Given the description of an element on the screen output the (x, y) to click on. 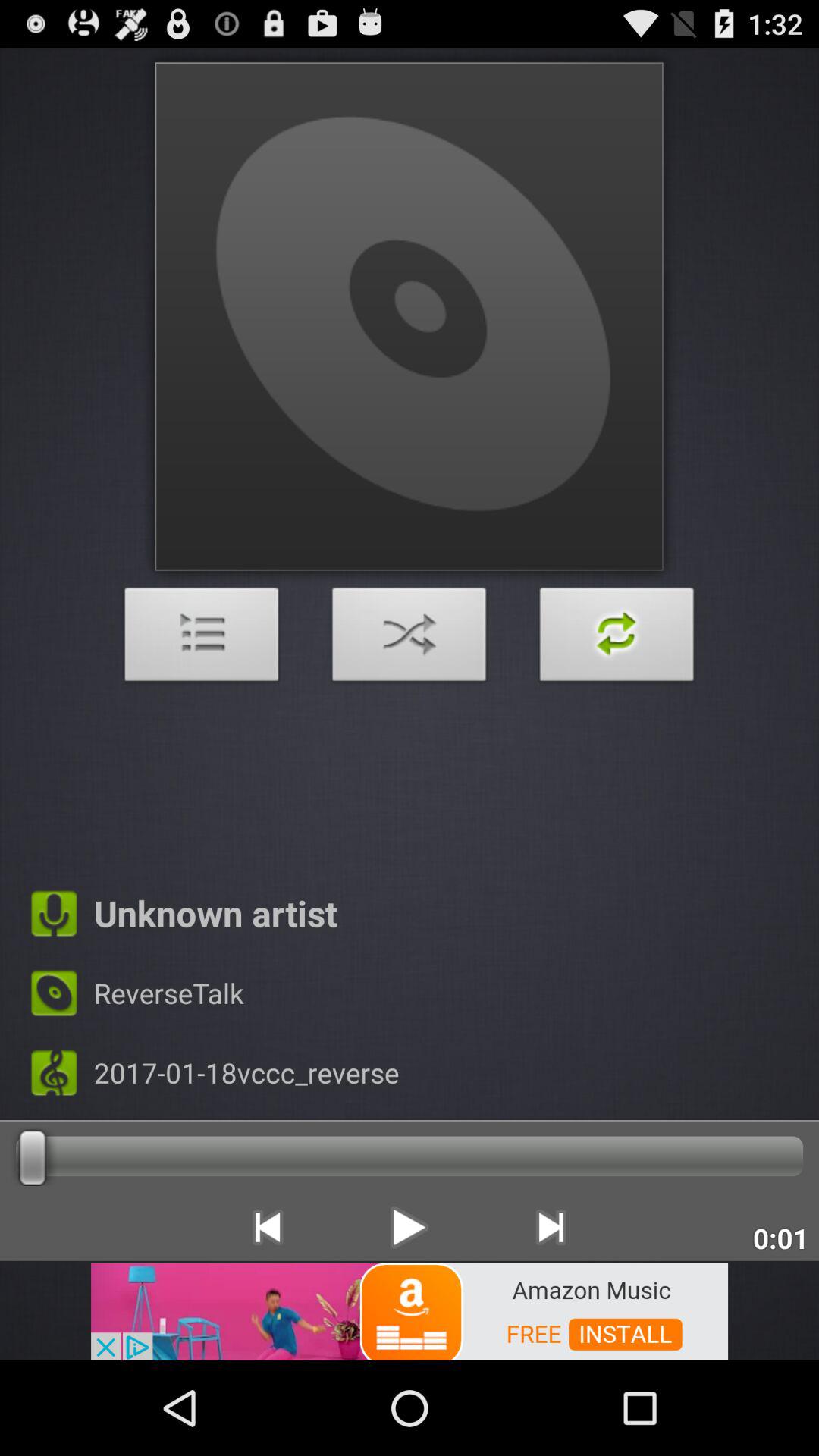
select the menu (201, 638)
